Given the description of an element on the screen output the (x, y) to click on. 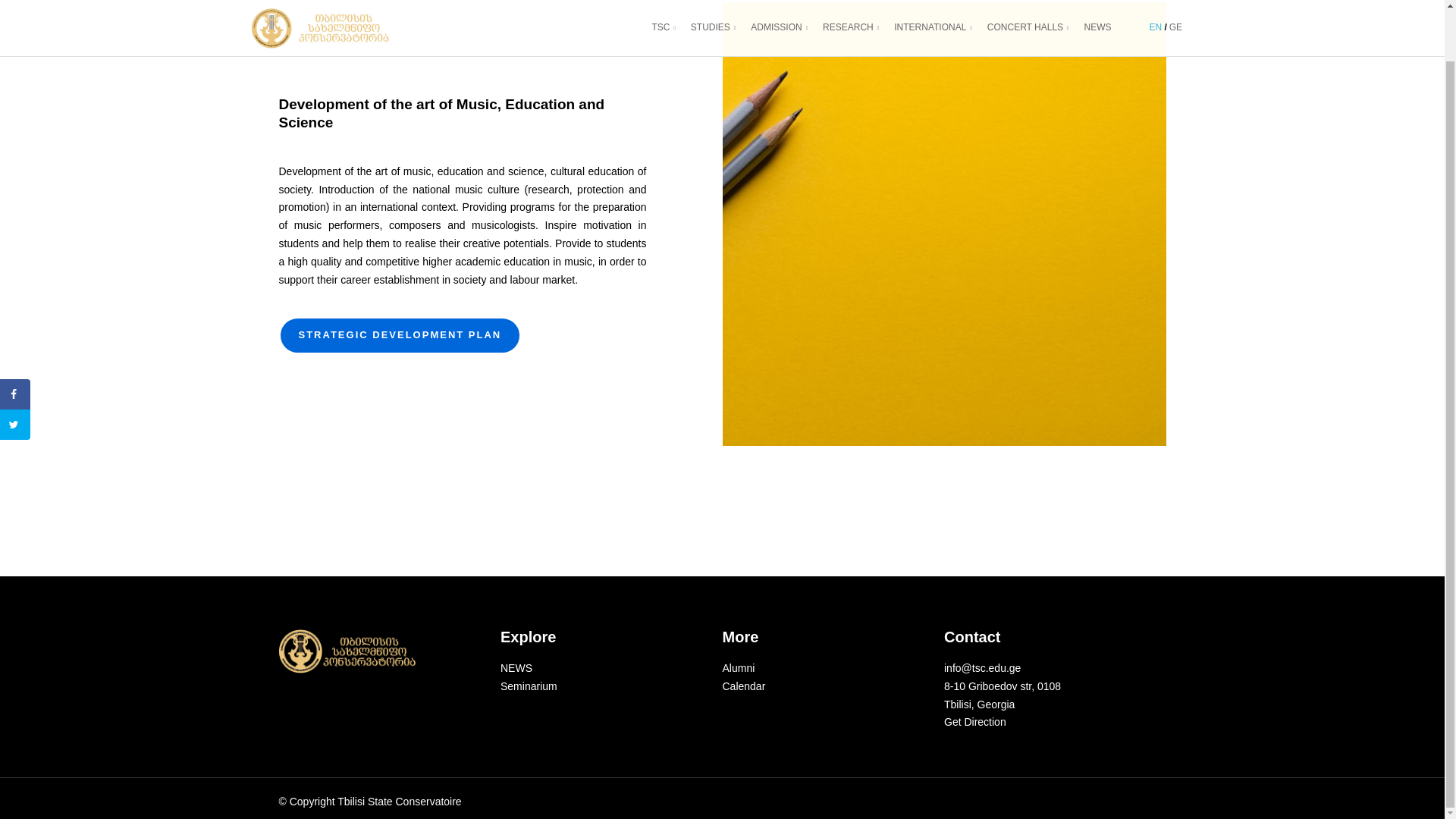
Share on Twitter (15, 369)
Share on Facebook (15, 339)
